Given the description of an element on the screen output the (x, y) to click on. 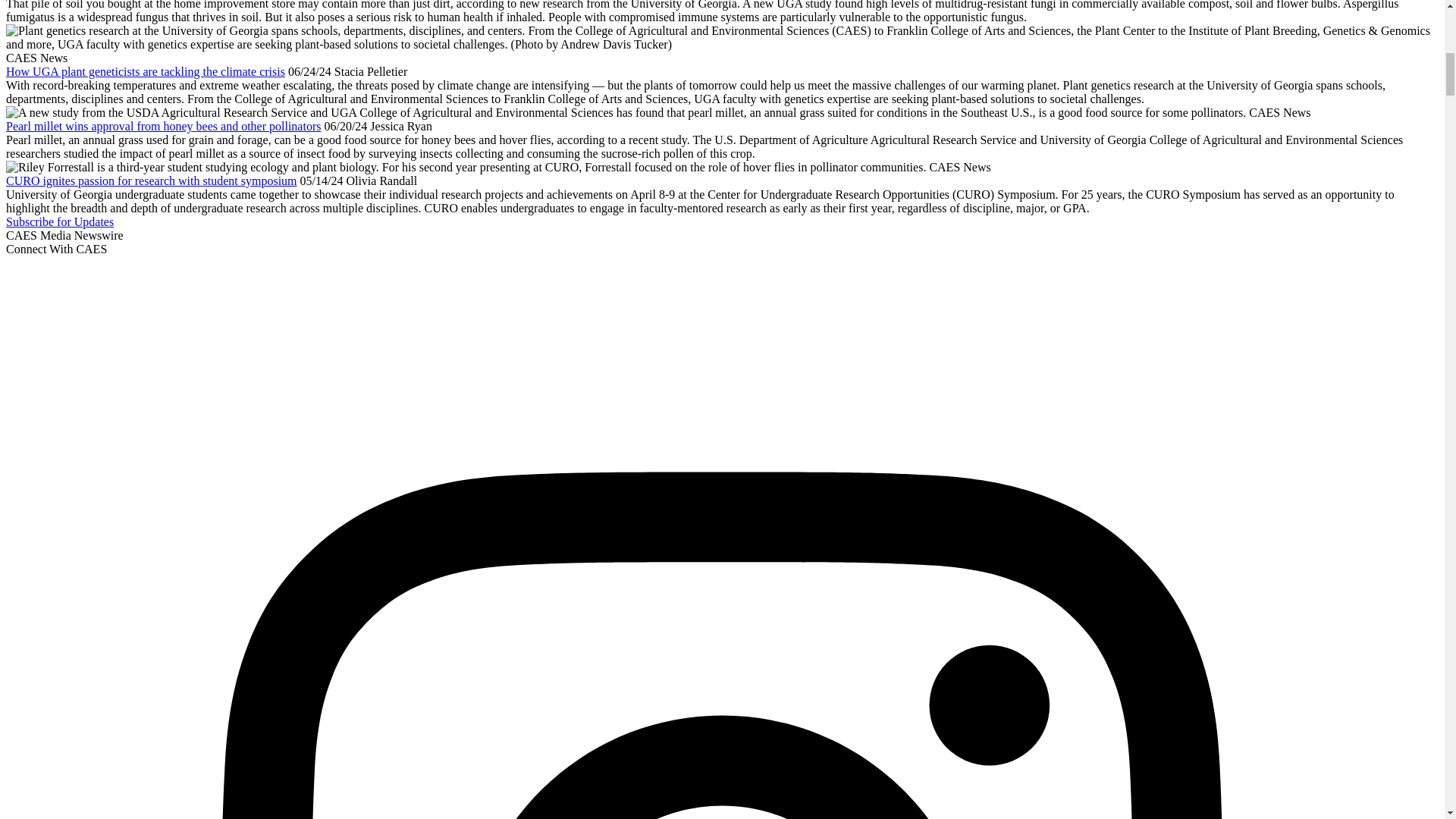
CURO ignites passion for research with student symposium (151, 180)
How UGA plant geneticists are tackling the climate crisis (145, 71)
Subscribe for Updates (59, 221)
